Given the description of an element on the screen output the (x, y) to click on. 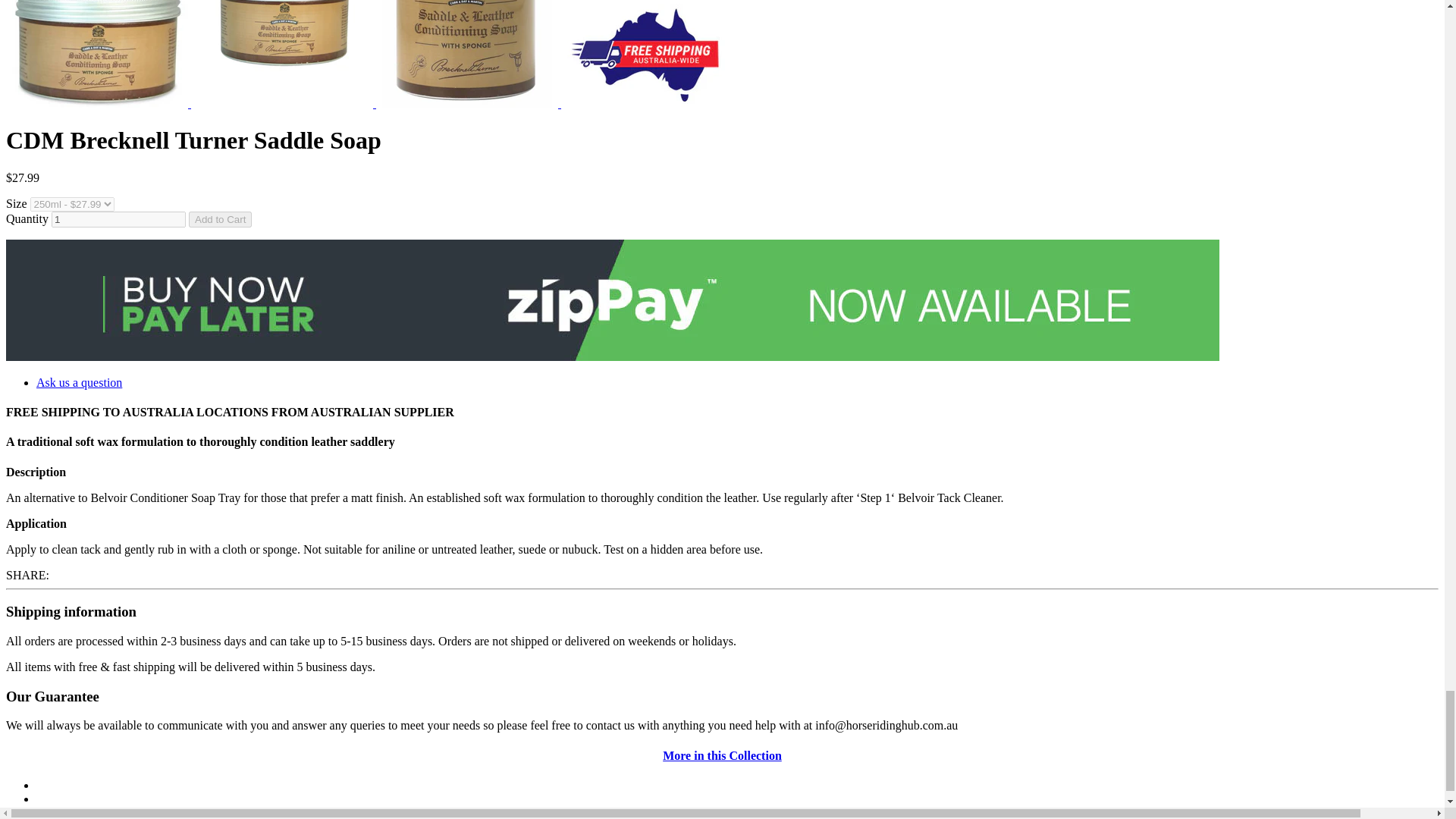
Add to Cart (220, 219)
1 (118, 219)
